Given the description of an element on the screen output the (x, y) to click on. 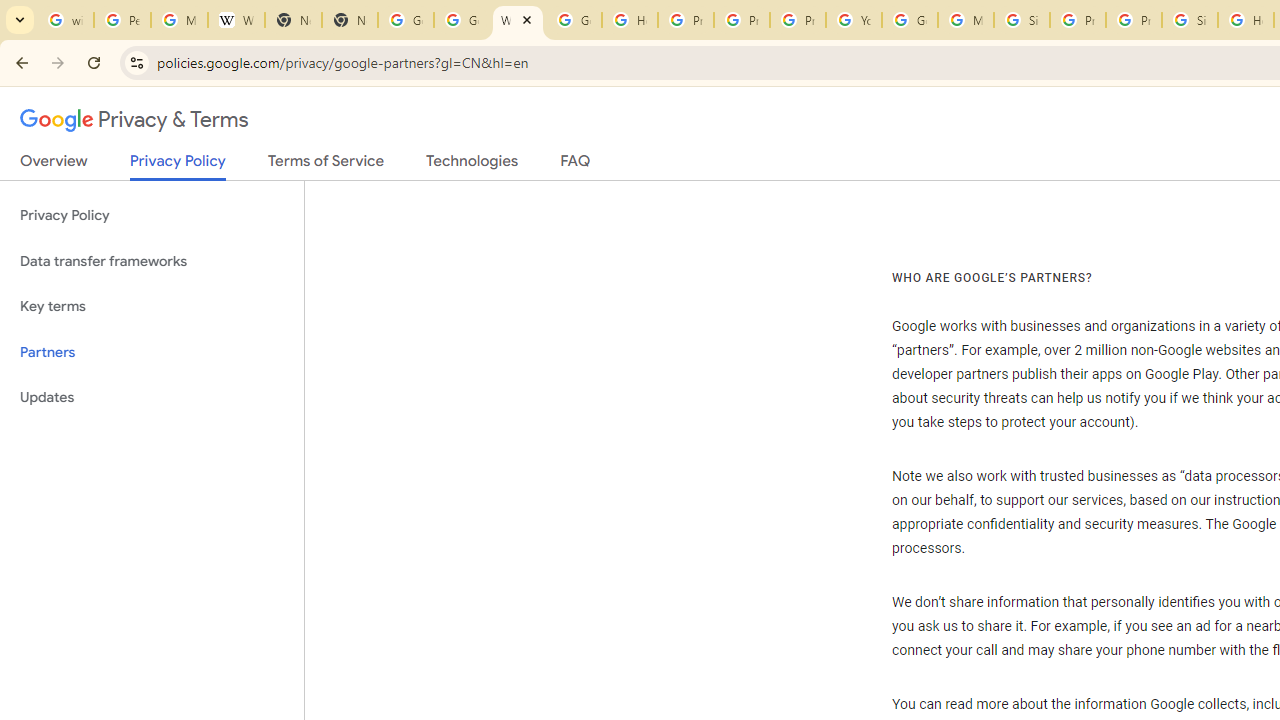
Personalization & Google Search results - Google Search Help (122, 20)
Google Drive: Sign-in (461, 20)
New Tab (293, 20)
YouTube (853, 20)
